Given the description of an element on the screen output the (x, y) to click on. 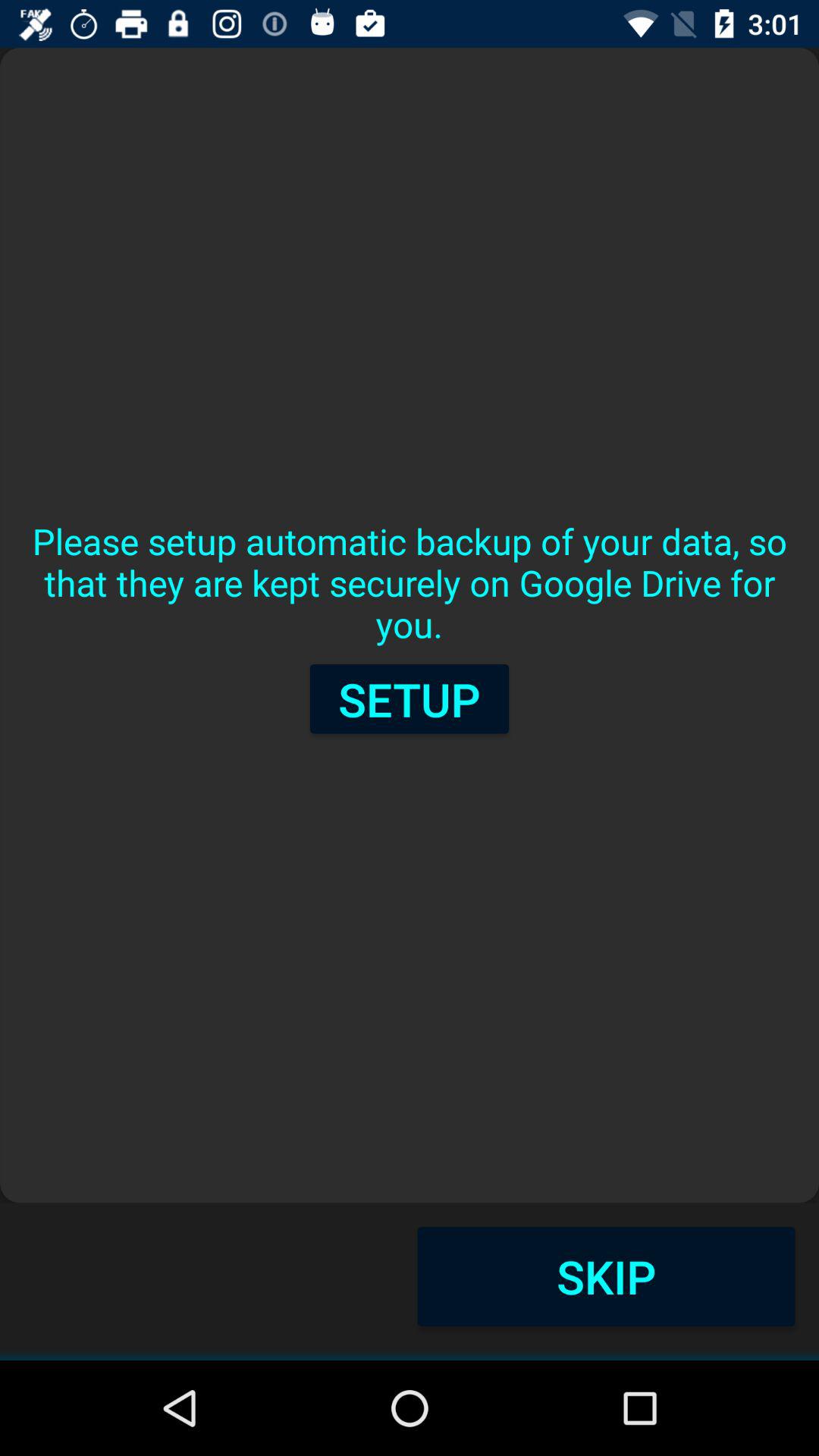
choose item at the bottom right corner (606, 1276)
